Given the description of an element on the screen output the (x, y) to click on. 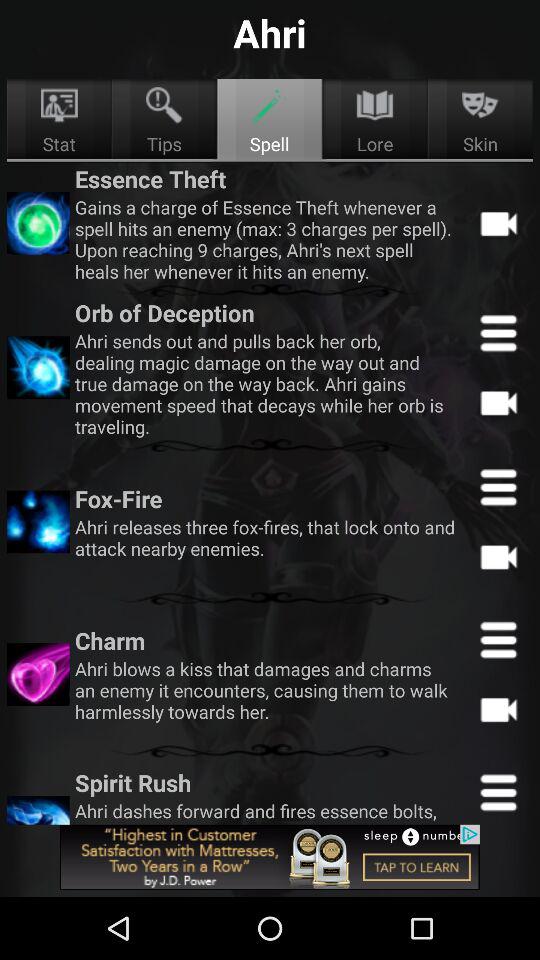
play charm video (498, 709)
